Given the description of an element on the screen output the (x, y) to click on. 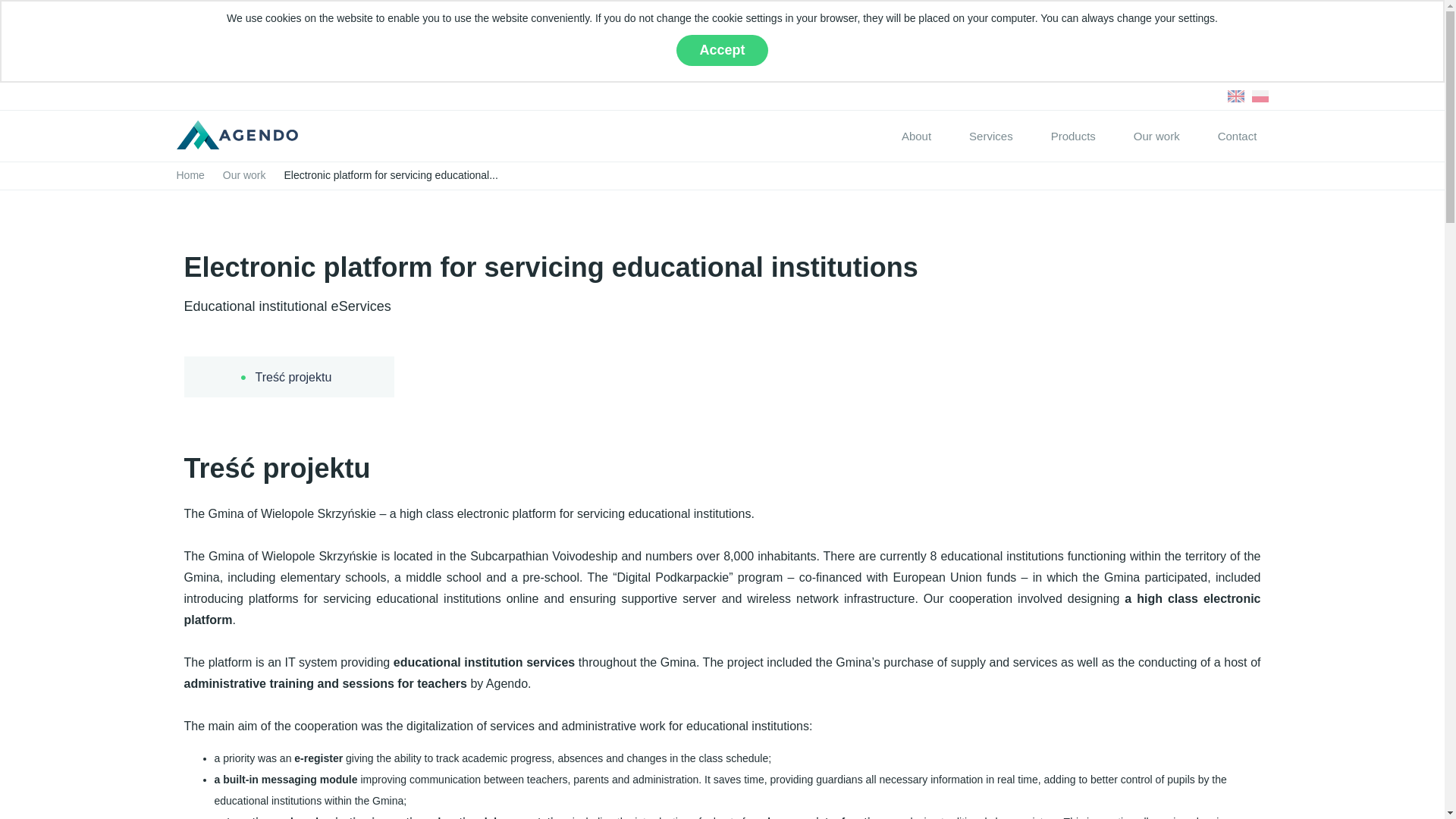
Electronic platform for servicing educational institutions (390, 174)
Home (193, 174)
Our work (244, 174)
